Given the description of an element on the screen output the (x, y) to click on. 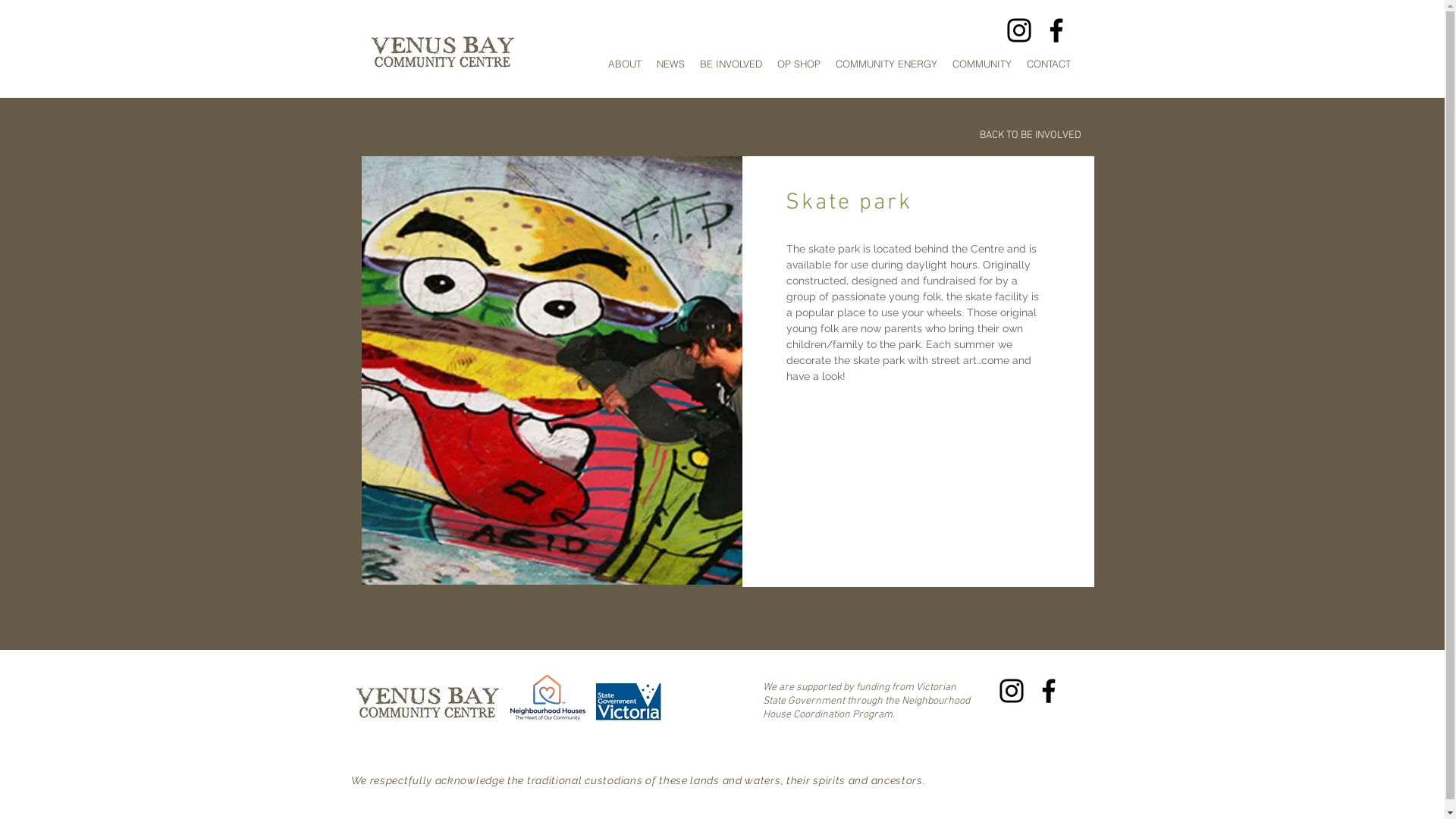
NEWS Element type: text (670, 63)
BACK TO BE INVOLVED Element type: text (1030, 134)
IMG_1035_small.jpg Element type: hover (550, 370)
OP SHOP Element type: text (797, 63)
Sector Portrait Colour_Small.png Element type: hover (546, 697)
COMMUNITY ENERGY Element type: text (886, 63)
CONTACT Element type: text (1048, 63)
COMMUNITY Element type: text (981, 63)
ABOUT Element type: text (624, 63)
BE INVOLVED Element type: text (729, 63)
